Given the description of an element on the screen output the (x, y) to click on. 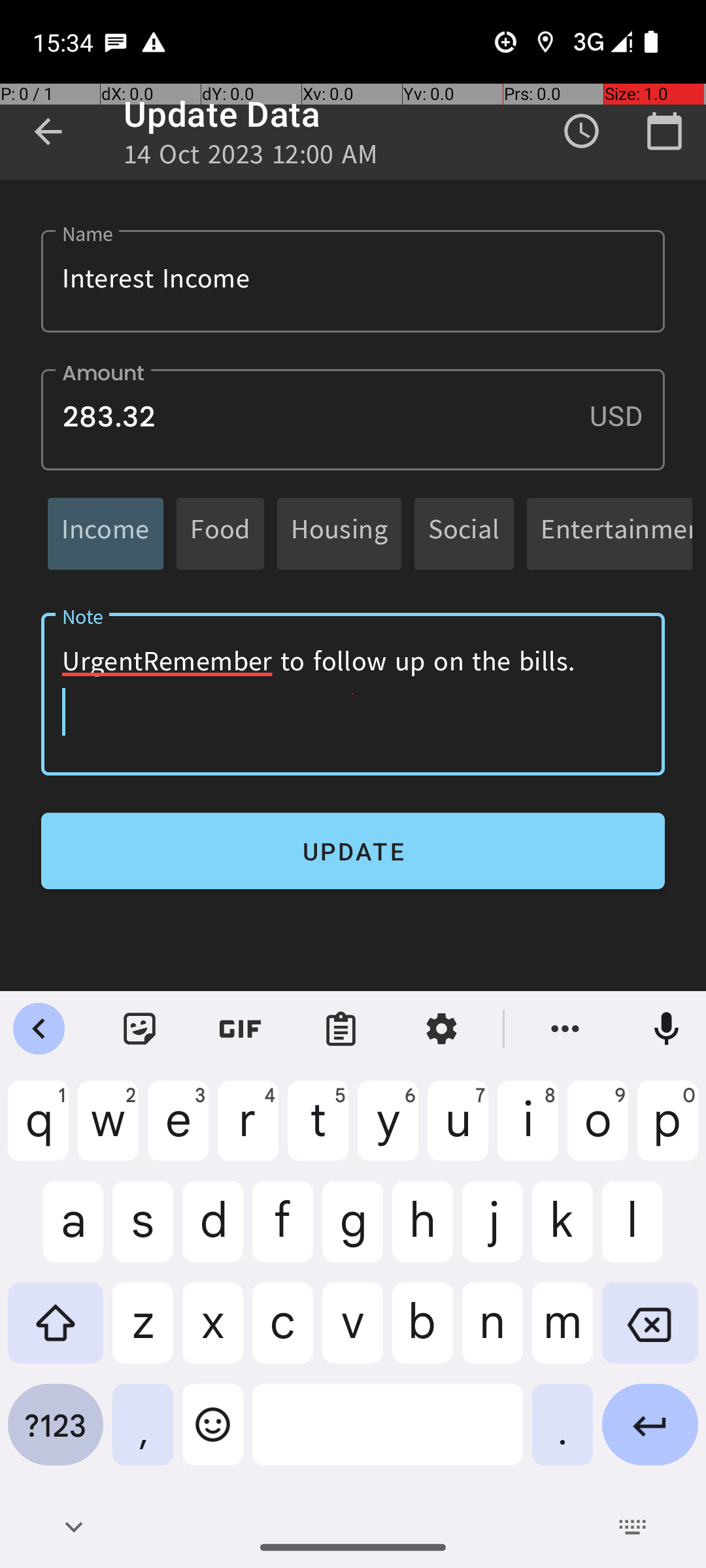
14 Oct 2023 12:00 AM Element type: android.widget.TextView (250, 157)
Interest Income Element type: android.widget.EditText (352, 280)
283.32 Element type: android.widget.EditText (352, 419)
UrgentRemember to follow up on the bills.
 Element type: android.widget.EditText (352, 693)
Close features menu Element type: android.widget.FrameLayout (39, 1028)
Sticker Keyboard Element type: android.widget.FrameLayout (139, 1028)
GIF Keyboard Element type: android.widget.FrameLayout (240, 1028)
Clipboard Element type: android.widget.FrameLayout (340, 1028)
More features Element type: android.widget.FrameLayout (565, 1028)
